Given the description of an element on the screen output the (x, y) to click on. 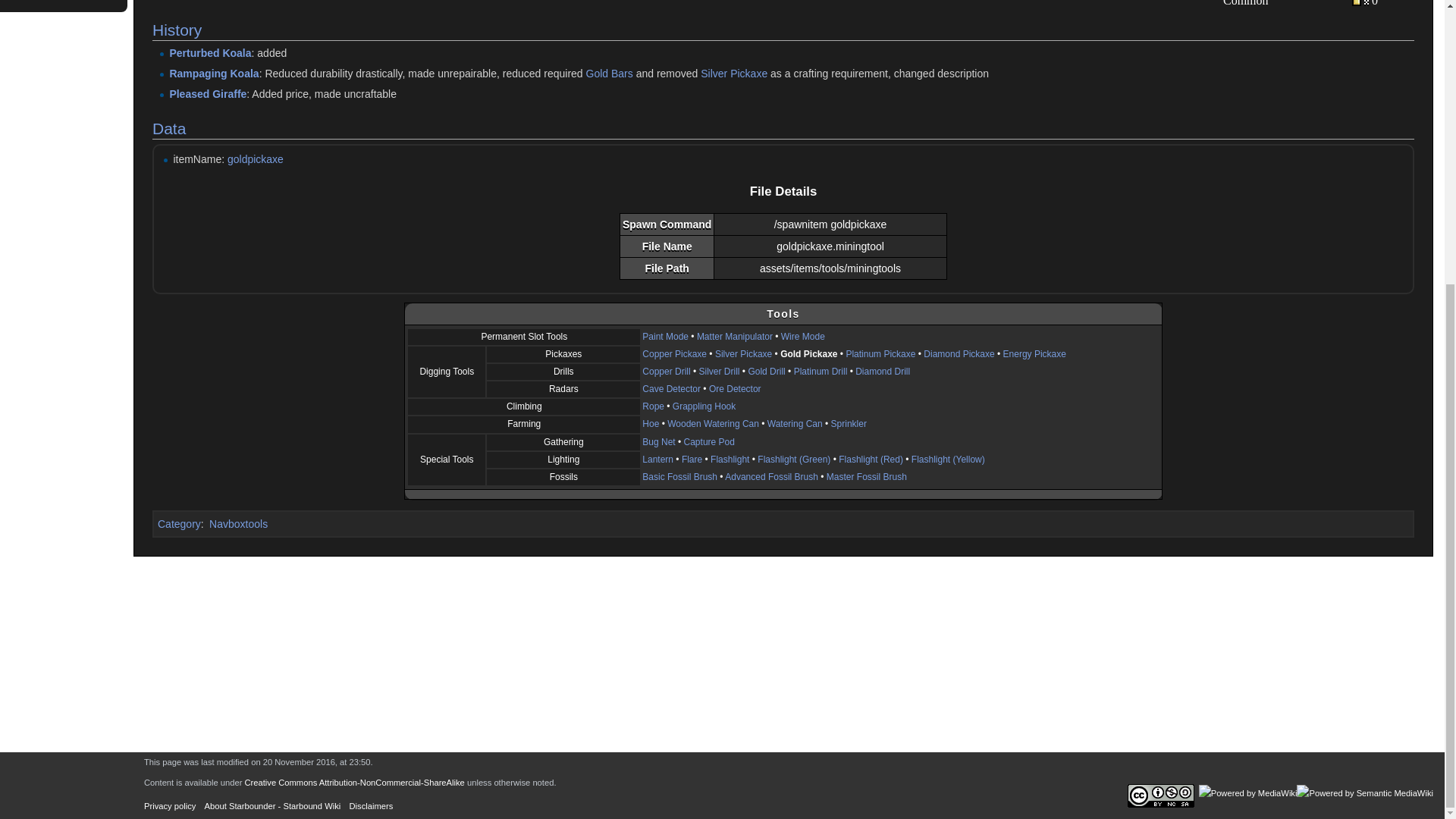
Gold Drill (766, 371)
Silver Drill (718, 371)
Copper Drill (666, 371)
Silver Pickaxe (742, 353)
Paint Mode (665, 336)
Platinum Pickaxe (880, 353)
Diamond Pickaxe (958, 353)
History (177, 29)
Perturbed Koala (209, 52)
Value (1360, 3)
